Given the description of an element on the screen output the (x, y) to click on. 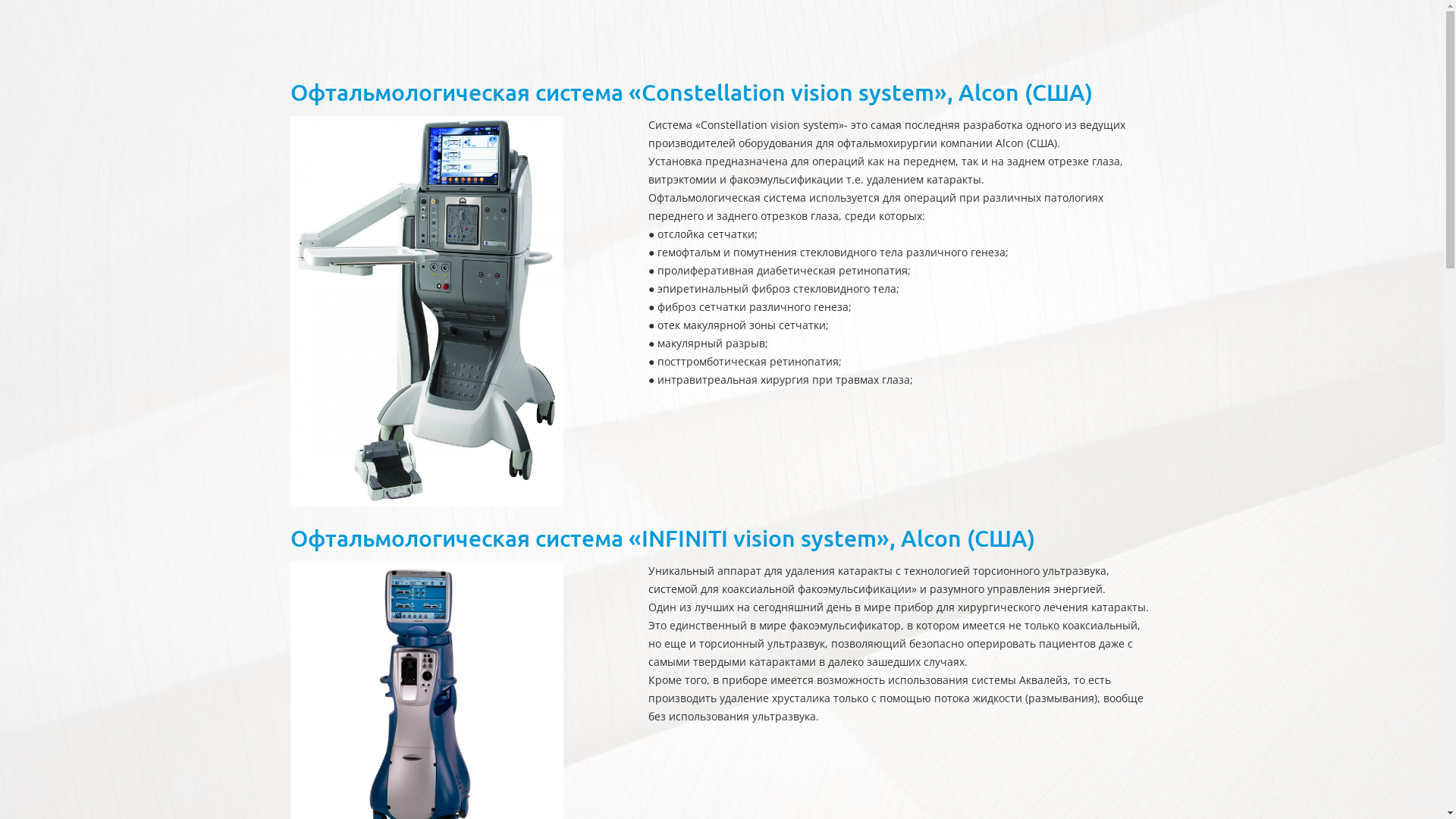
- Element type: hover (425, 311)
